Given the description of an element on the screen output the (x, y) to click on. 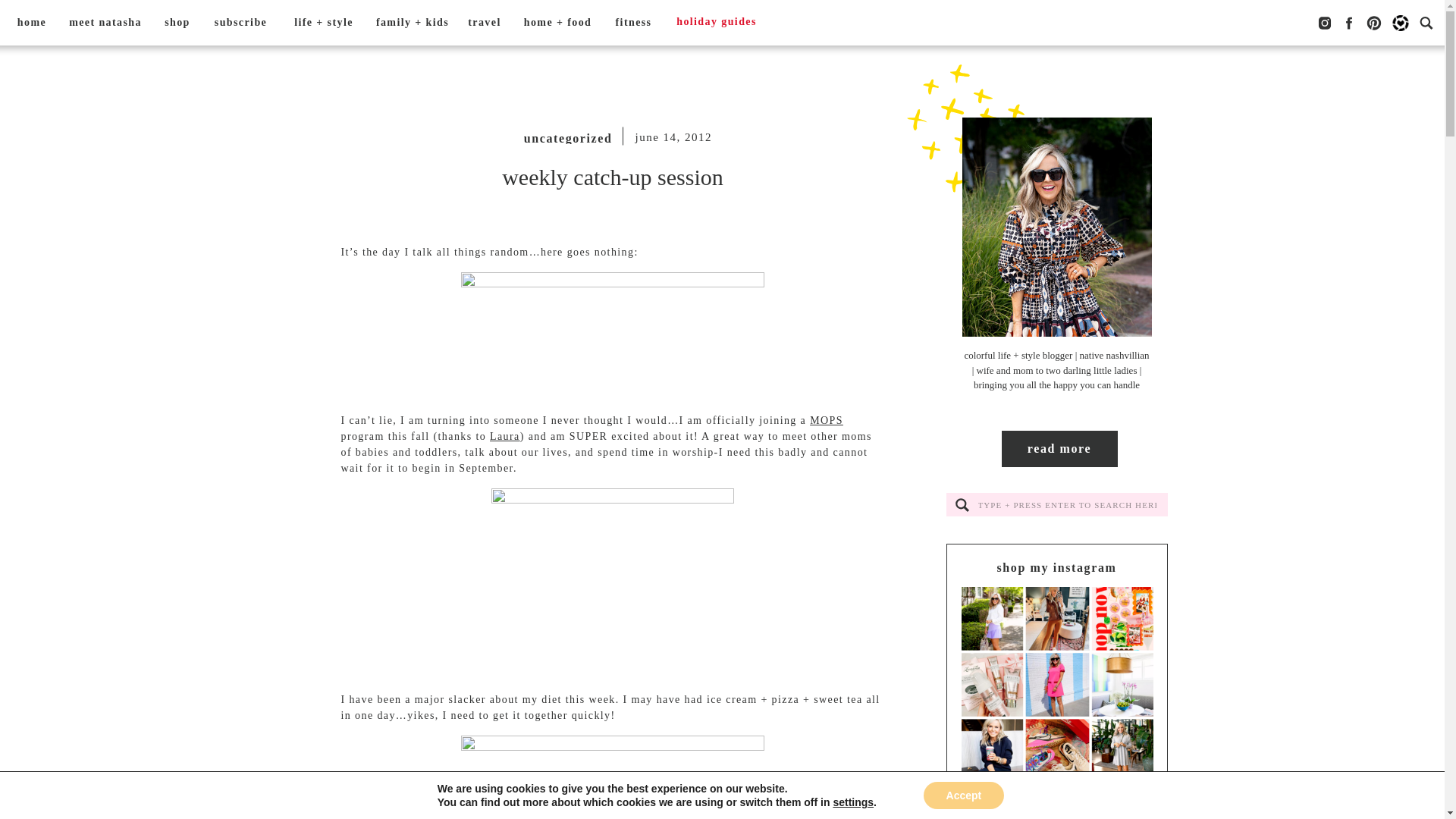
travel (483, 22)
home (31, 22)
holiday guides (716, 22)
fitness (633, 22)
subscribe (240, 22)
meet natasha (105, 22)
shop (176, 22)
